Given the description of an element on the screen output the (x, y) to click on. 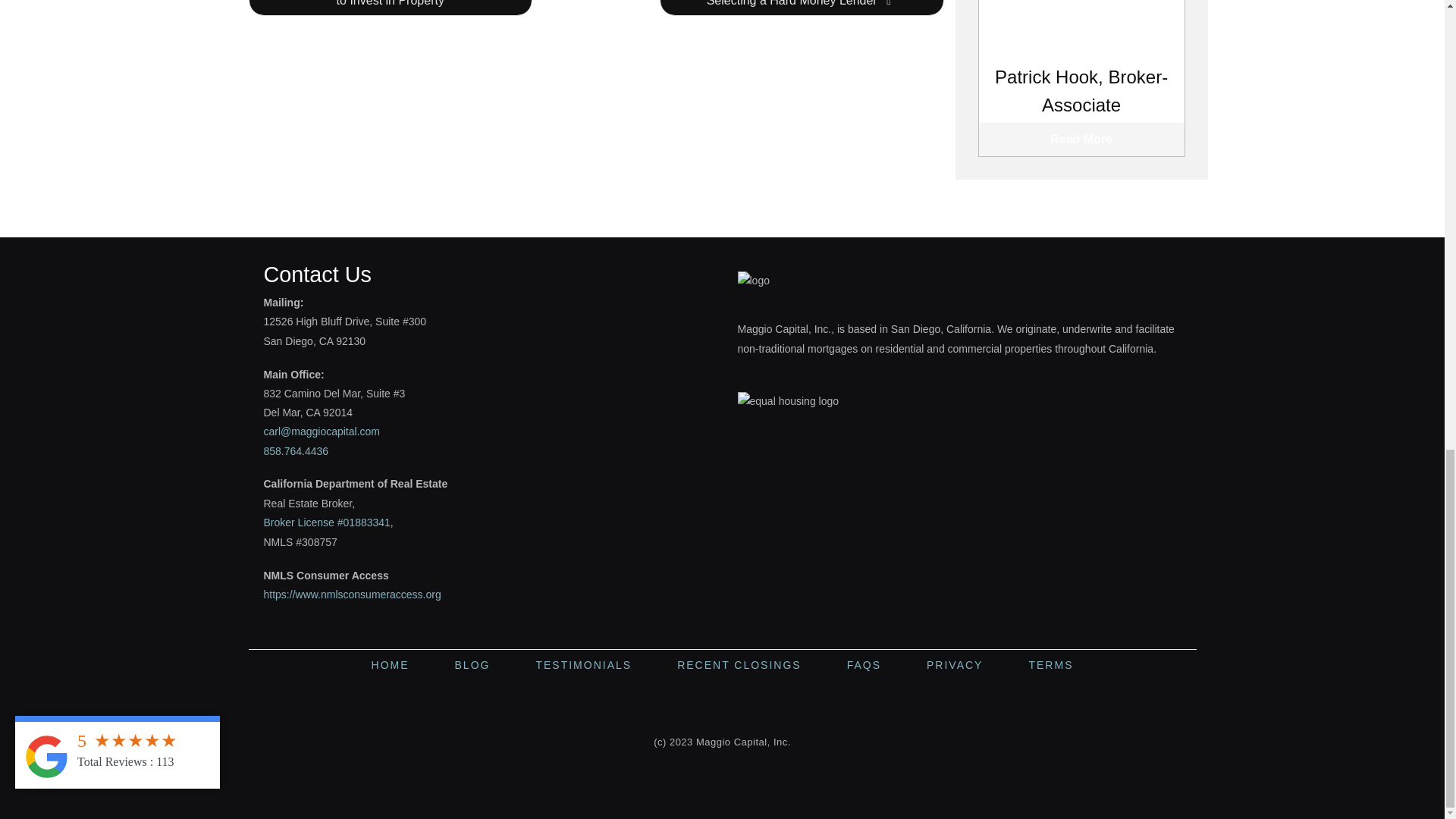
Read More (1081, 139)
858.764.4436 (296, 451)
